Given the description of an element on the screen output the (x, y) to click on. 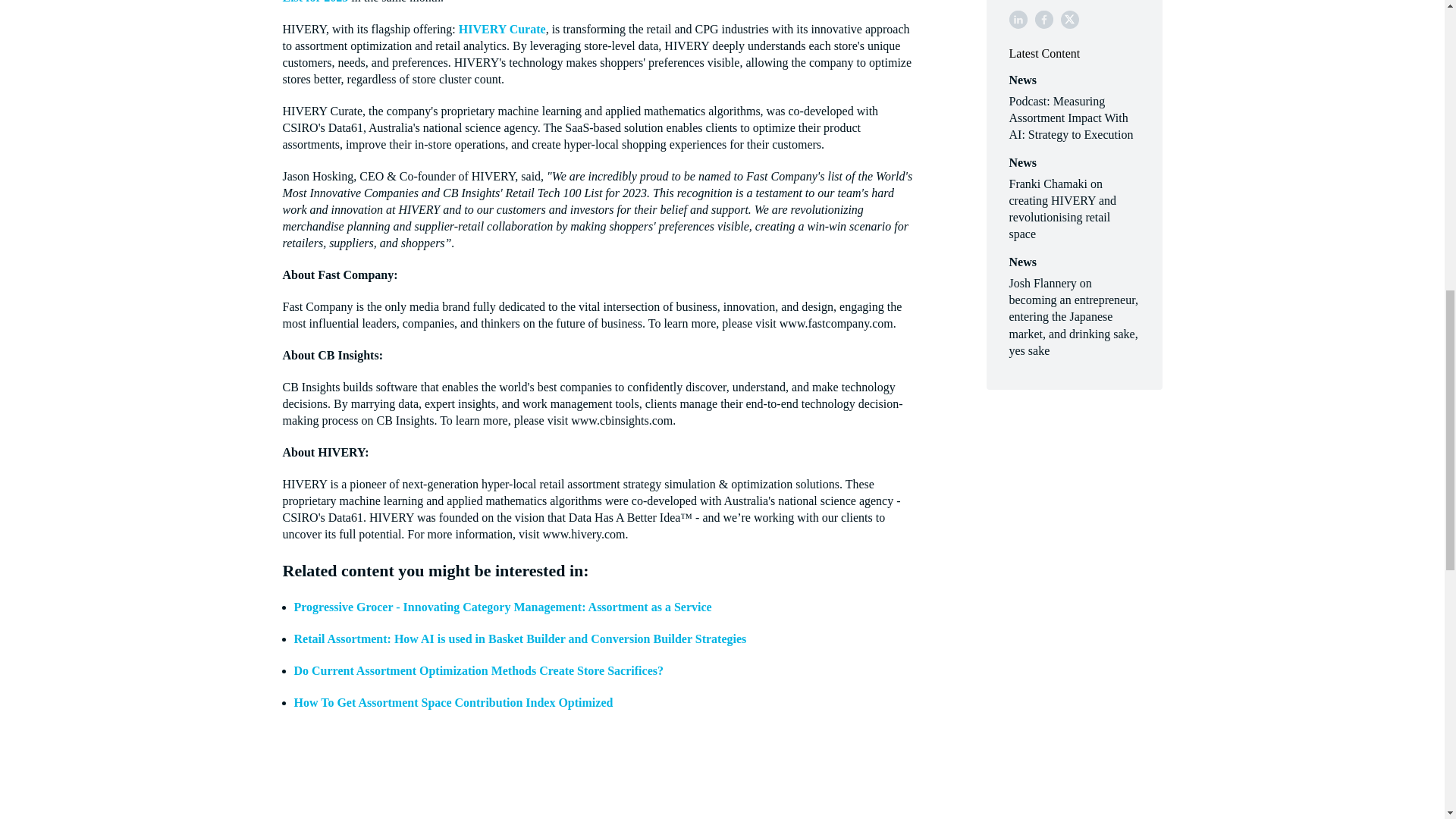
How To Get Assortment Space Contribution Index Optimized (453, 702)
HIVERY Curate (502, 29)
